Given the description of an element on the screen output the (x, y) to click on. 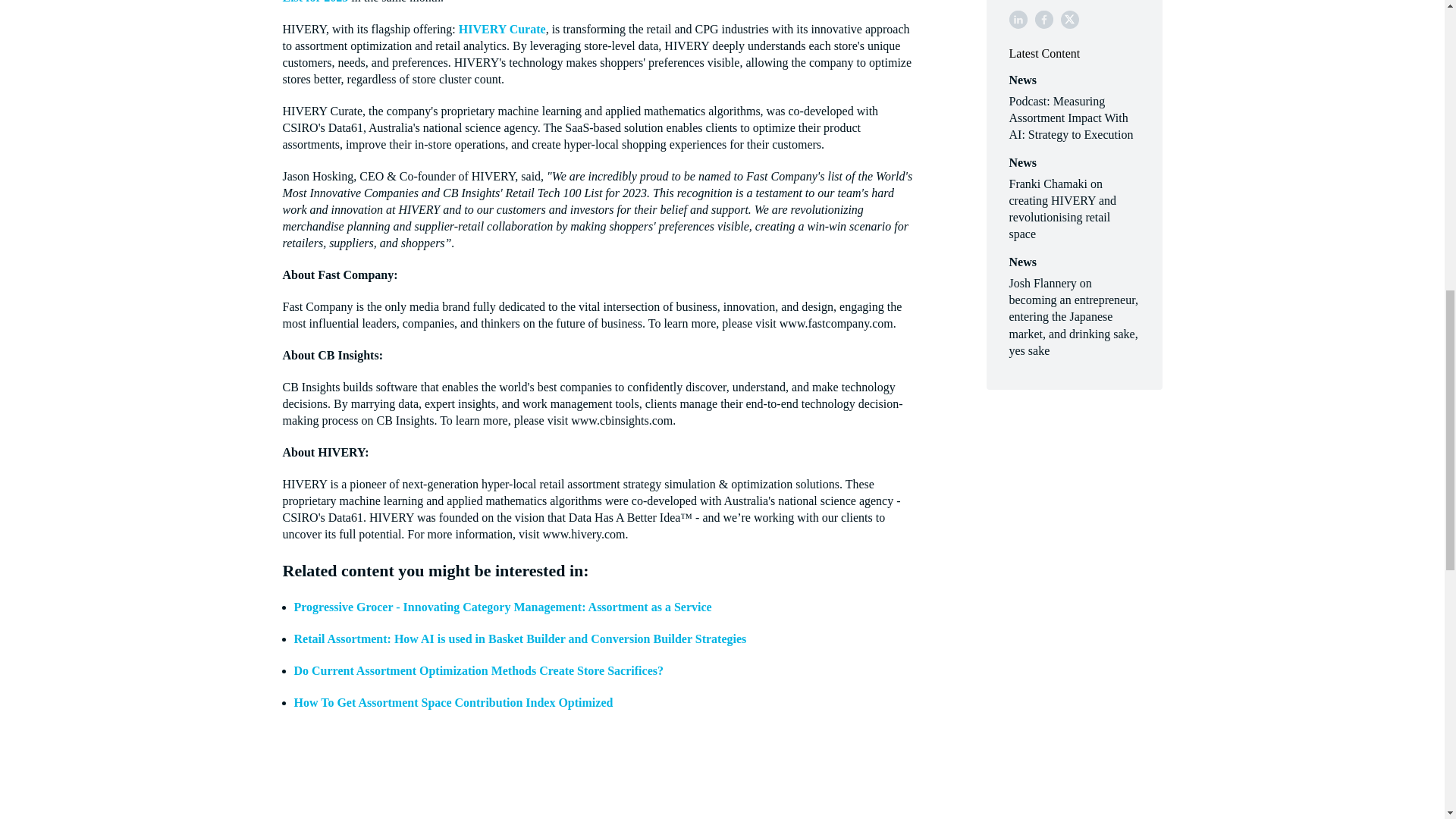
How To Get Assortment Space Contribution Index Optimized (453, 702)
HIVERY Curate (502, 29)
